Given the description of an element on the screen output the (x, y) to click on. 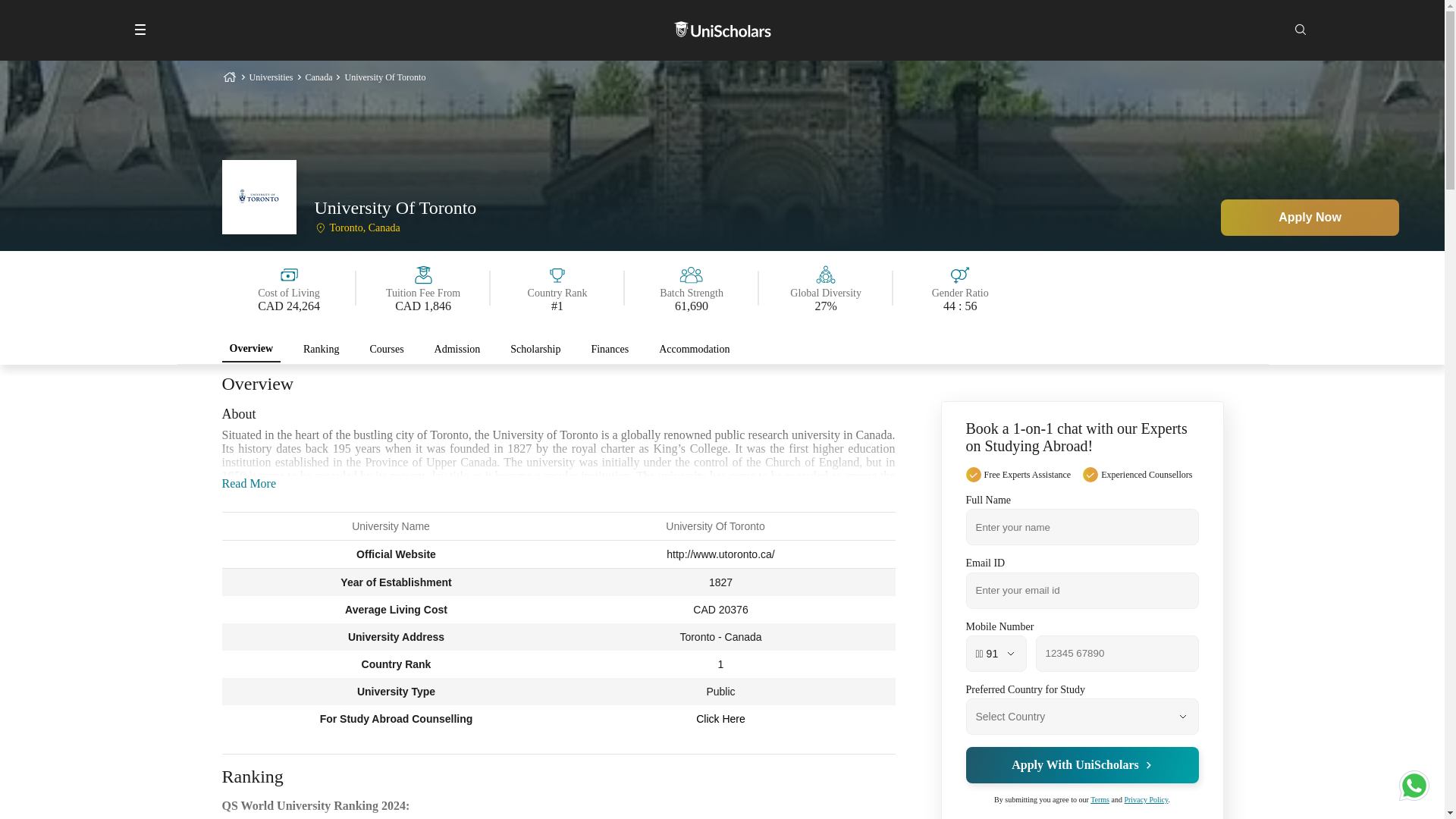
Accommodation (693, 349)
Scholarship (534, 349)
Finances (609, 349)
Overview (251, 348)
Click Here (720, 718)
Ranking (320, 349)
Accommodation (693, 349)
Courses (385, 349)
University Of Toronto (384, 76)
Universities (270, 76)
